Given the description of an element on the screen output the (x, y) to click on. 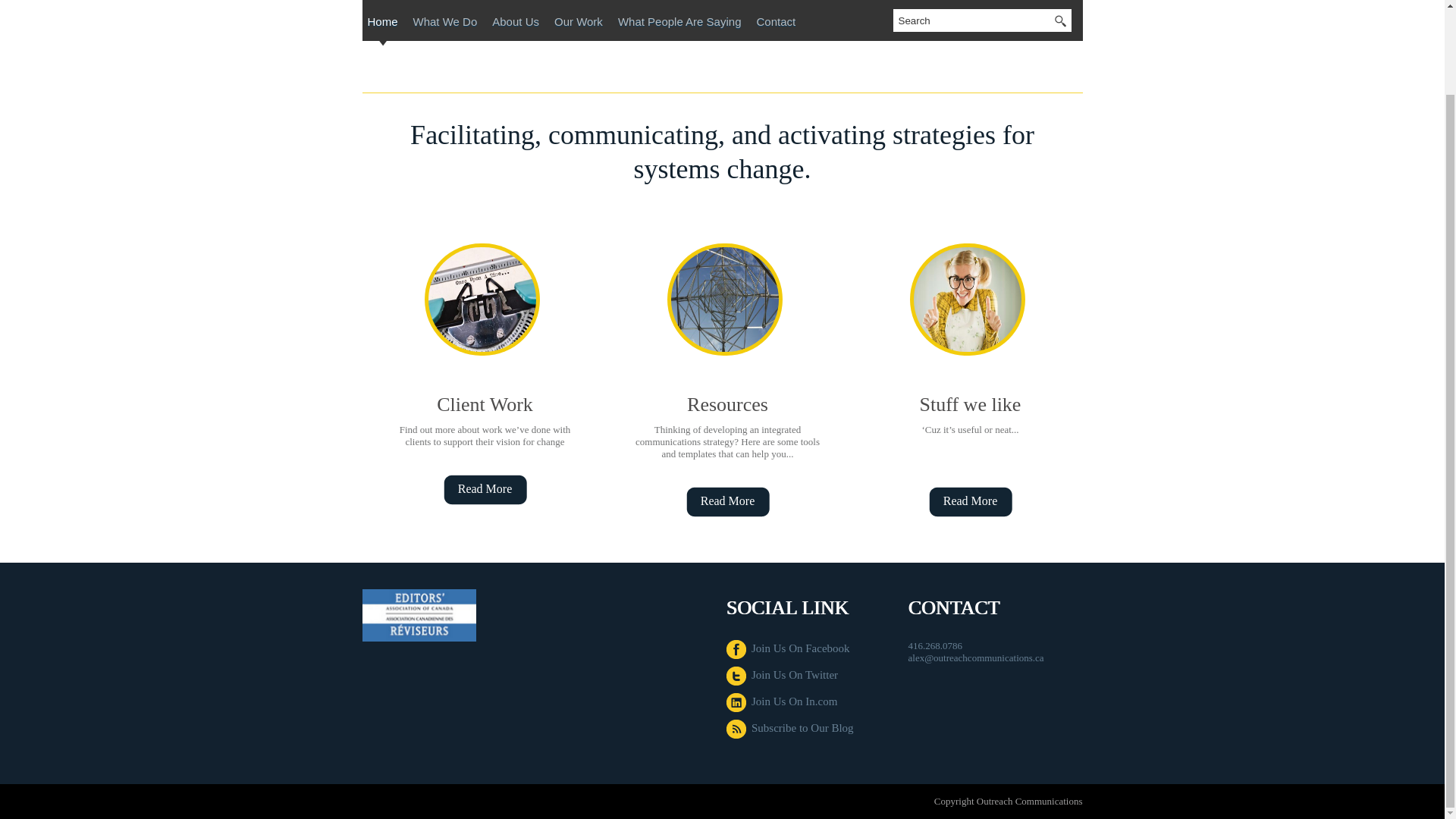
Stuff we like (971, 404)
  Join Us On Twitter (782, 674)
Read More (726, 501)
Read More (969, 501)
About Us (515, 24)
Resources (727, 404)
  Join Us On Facebook (788, 648)
  Join Us On In.com (782, 701)
Our Work (578, 24)
Read More (484, 489)
What People Are Saying (679, 24)
Client Work (484, 404)
What We Do (445, 24)
Search (971, 20)
Home (381, 24)
